Given the description of an element on the screen output the (x, y) to click on. 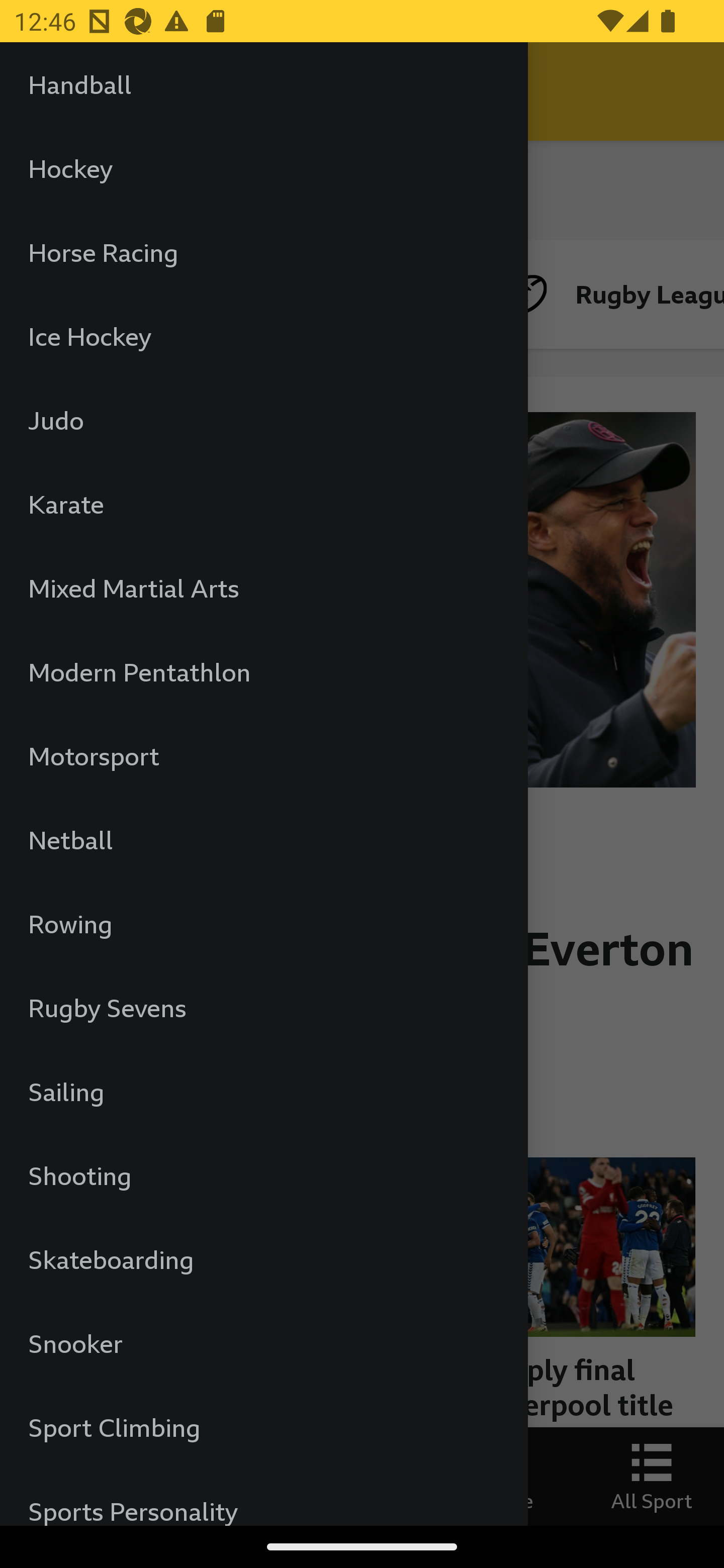
Handball (263, 84)
Hockey (263, 167)
Horse Racing (263, 252)
Ice Hockey (263, 335)
Judo (263, 419)
Karate (263, 503)
Mixed Martial Arts (263, 587)
Modern Pentathlon (263, 671)
Motorsport (263, 755)
Netball (263, 839)
Rowing (263, 923)
Rugby Sevens (263, 1007)
Sailing (263, 1090)
Shooting (263, 1175)
Skateboarding (263, 1258)
Snooker (263, 1343)
Sport Climbing (263, 1426)
Sports Personality (263, 1497)
